Given the description of an element on the screen output the (x, y) to click on. 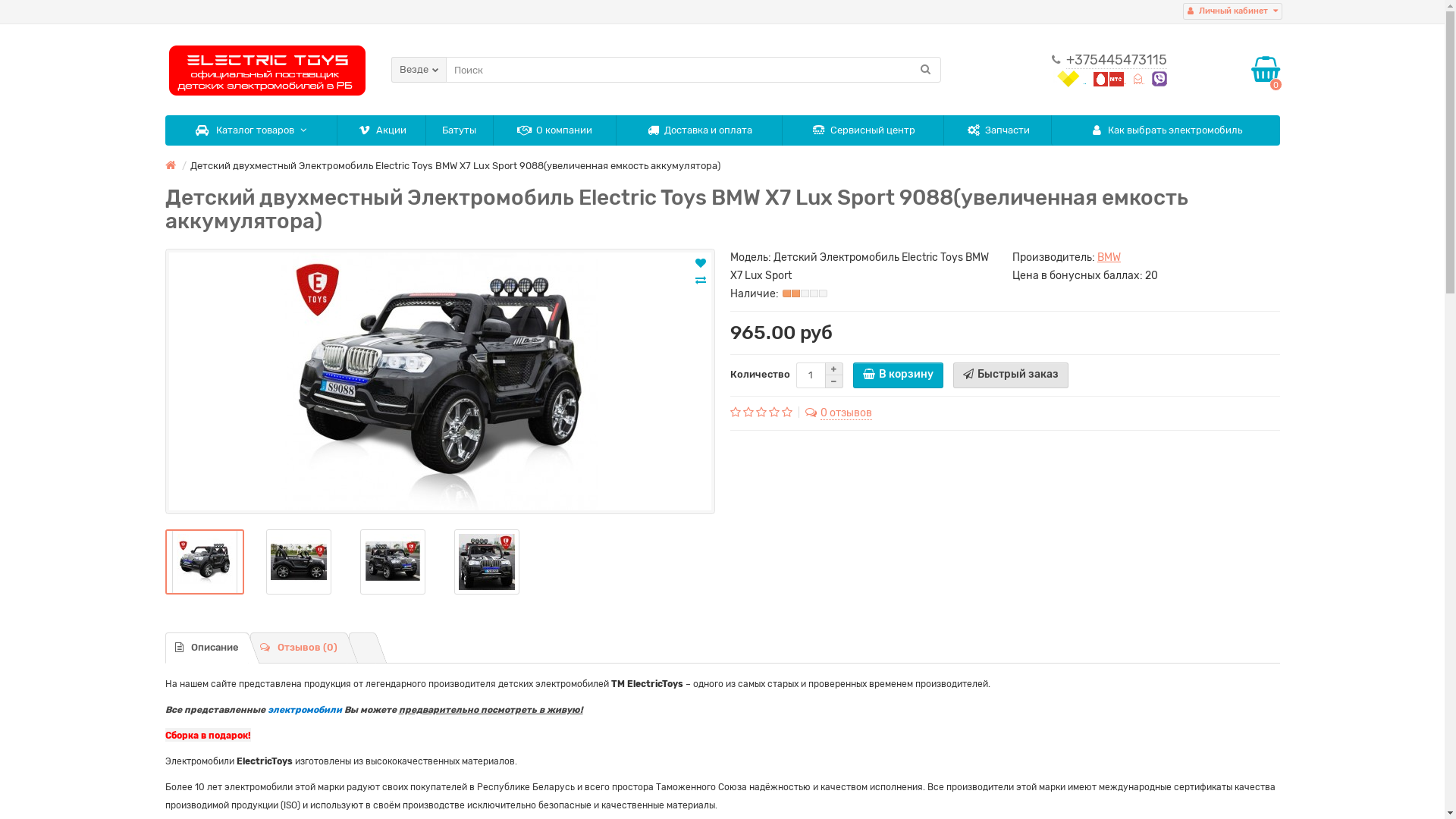
BMW Element type: text (1108, 257)
0 Element type: text (1265, 69)
